Given the description of an element on the screen output the (x, y) to click on. 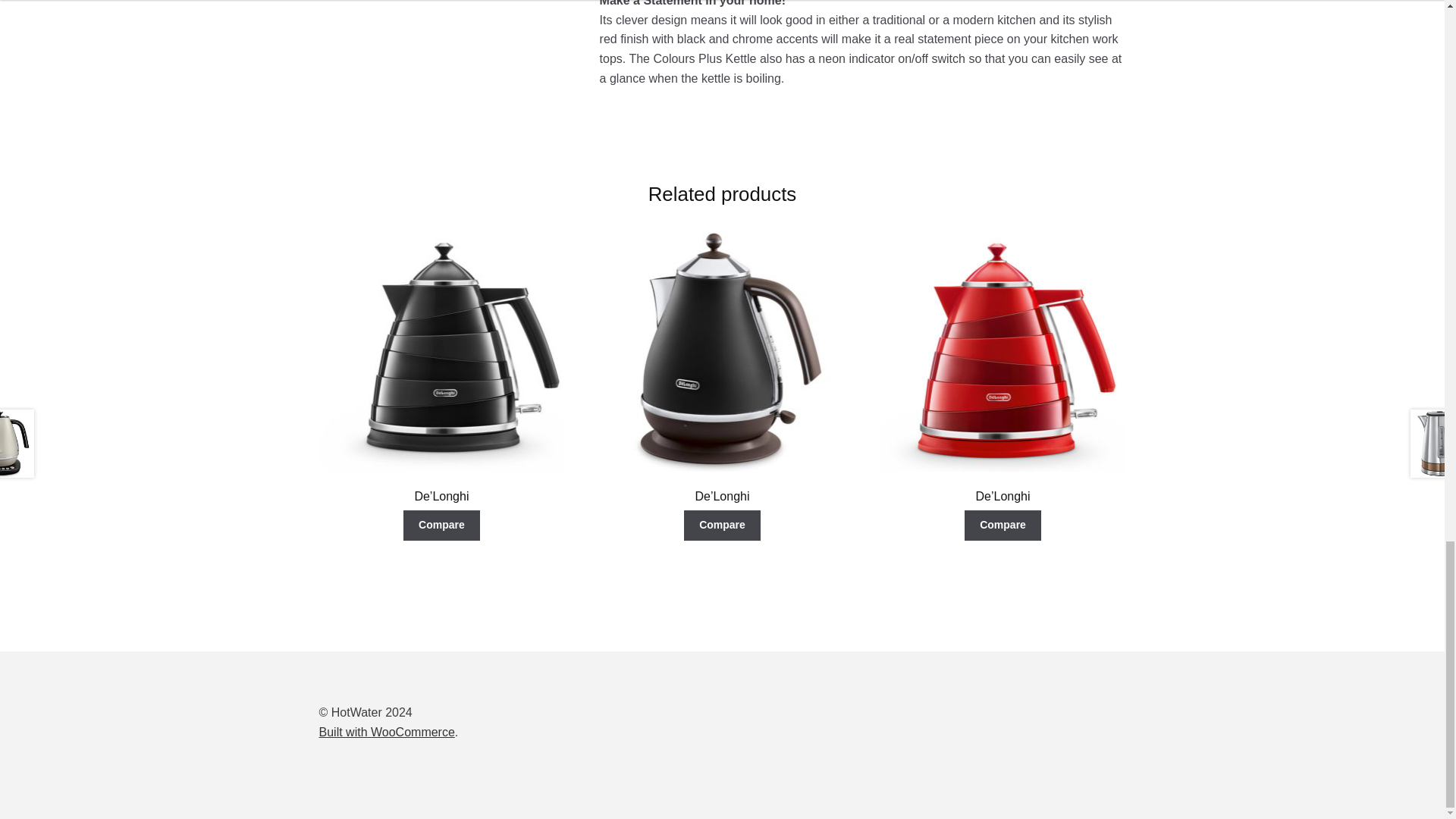
WooCommerce - The Best eCommerce Platform for WordPress (386, 731)
